Given the description of an element on the screen output the (x, y) to click on. 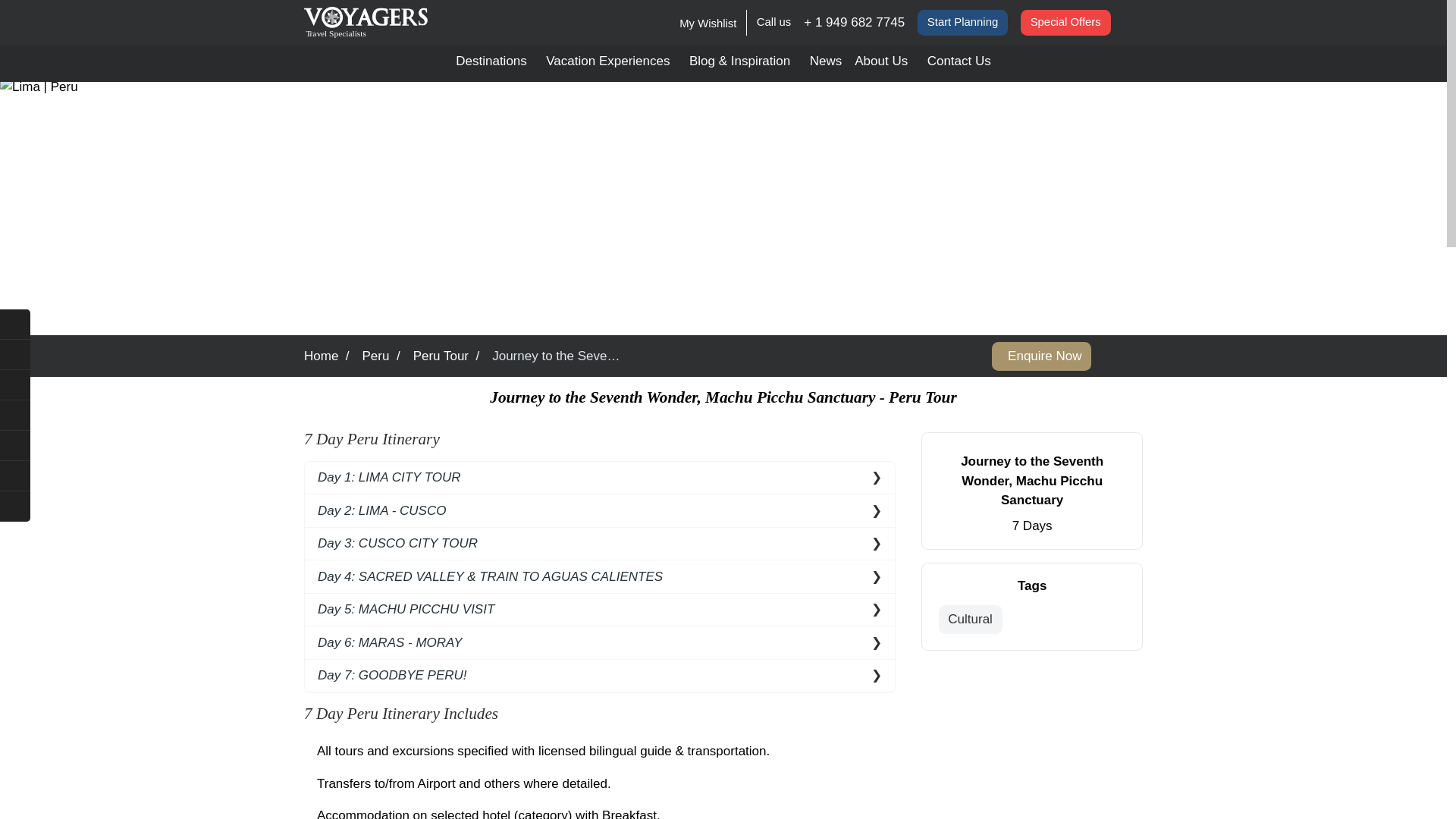
Voyagers Travel Social Network (15, 415)
Voyagers Travel Social Network (15, 506)
Voyagers Travel Social Network (15, 354)
Destinations (493, 63)
My Wishlist (707, 22)
Special Offers (1065, 22)
Start Planning (962, 22)
Voyagers Travel Social Network (15, 445)
Voyagers Travel Social Network (15, 476)
Voyagers Travel Social Network (15, 385)
